Given the description of an element on the screen output the (x, y) to click on. 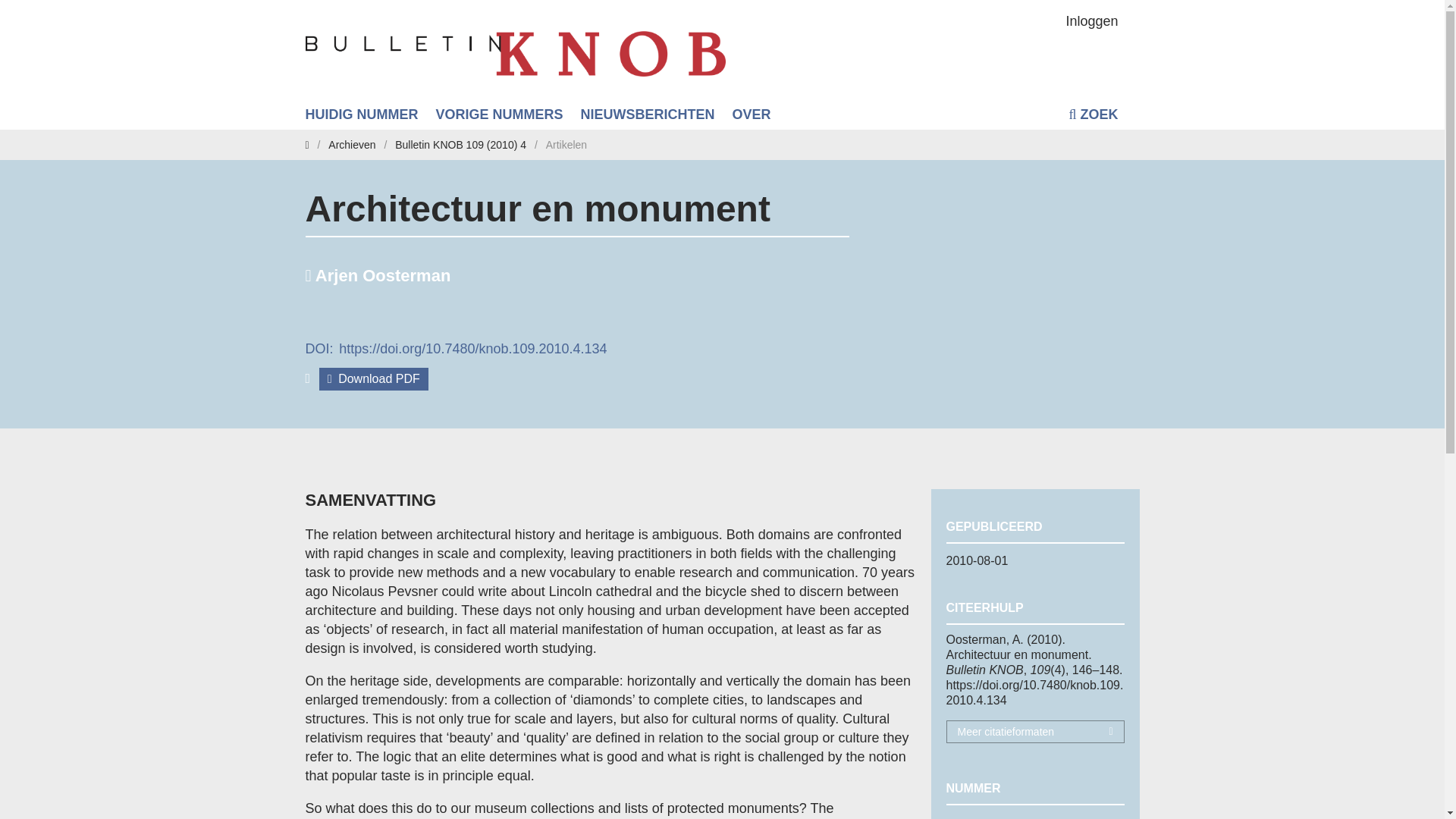
Archieven (352, 144)
VORIGE NUMMERS (499, 114)
HUIDIG NUMMER (360, 114)
Inloggen (1091, 20)
Download PDF (373, 378)
NIEUWSBERICHTEN (647, 114)
Meer citatieformaten (1034, 731)
ZOEK (1092, 116)
OVER (751, 114)
